Given the description of an element on the screen output the (x, y) to click on. 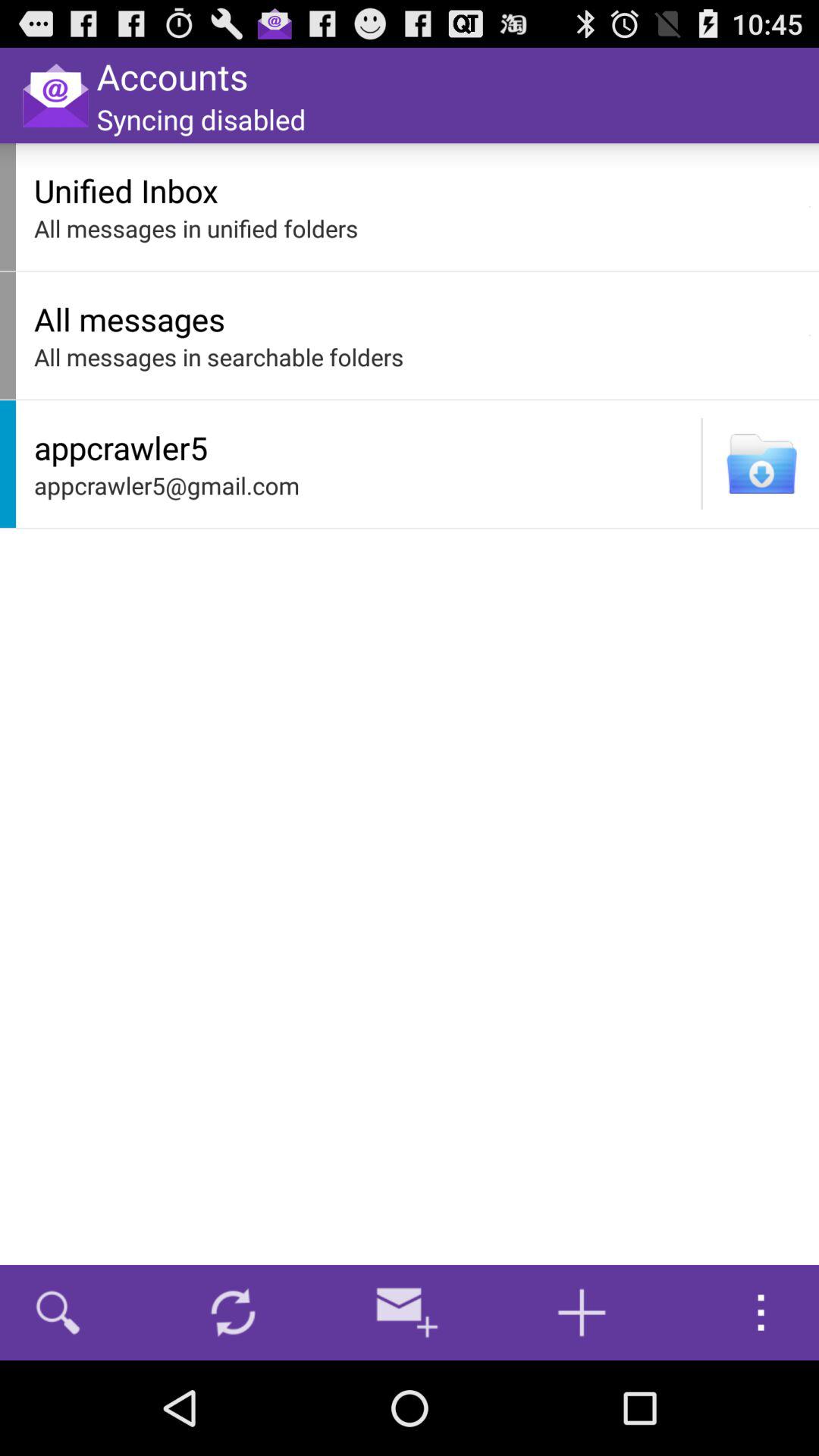
press the item at the bottom (407, 1312)
